Given the description of an element on the screen output the (x, y) to click on. 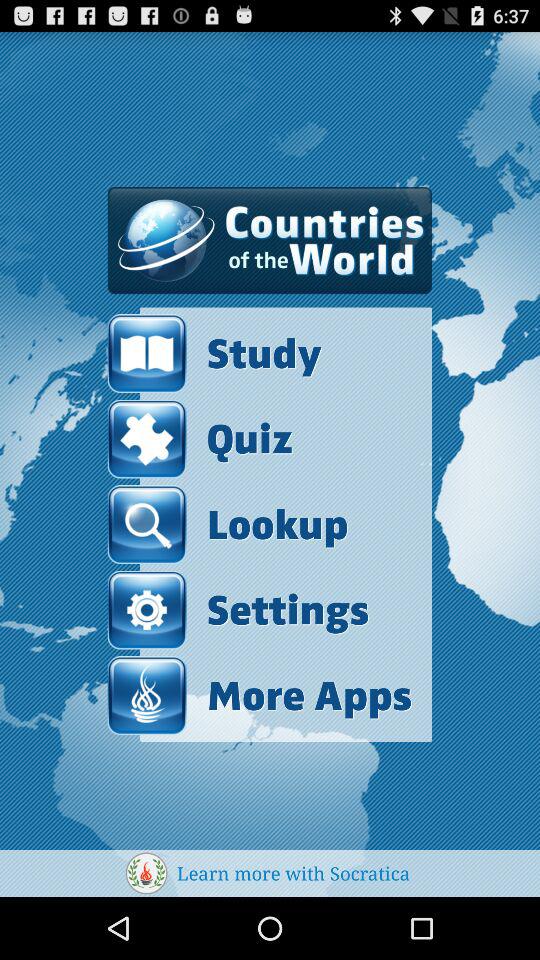
launch the item above study (269, 240)
